Given the description of an element on the screen output the (x, y) to click on. 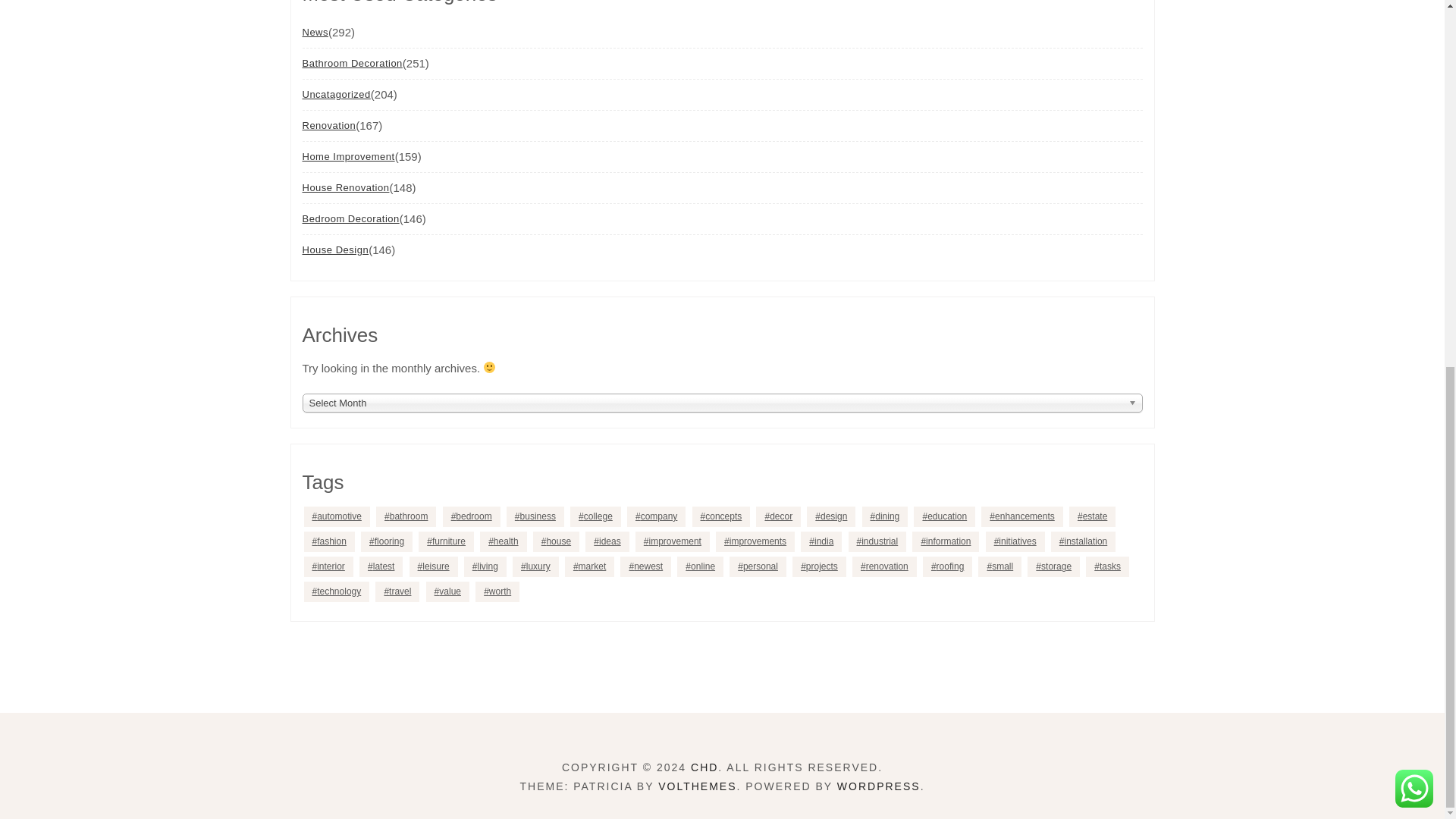
House Renovation (344, 186)
business (535, 516)
Home Improvement (347, 156)
company (656, 516)
Renovation (328, 124)
Uncatagorized (335, 94)
WordPress (878, 786)
Bedroom Decoration (349, 218)
automotive (335, 516)
bedroom (471, 516)
decor (777, 516)
Bathroom Decoration (351, 62)
Select Month (721, 402)
House Design (334, 249)
concepts (722, 516)
